Given the description of an element on the screen output the (x, y) to click on. 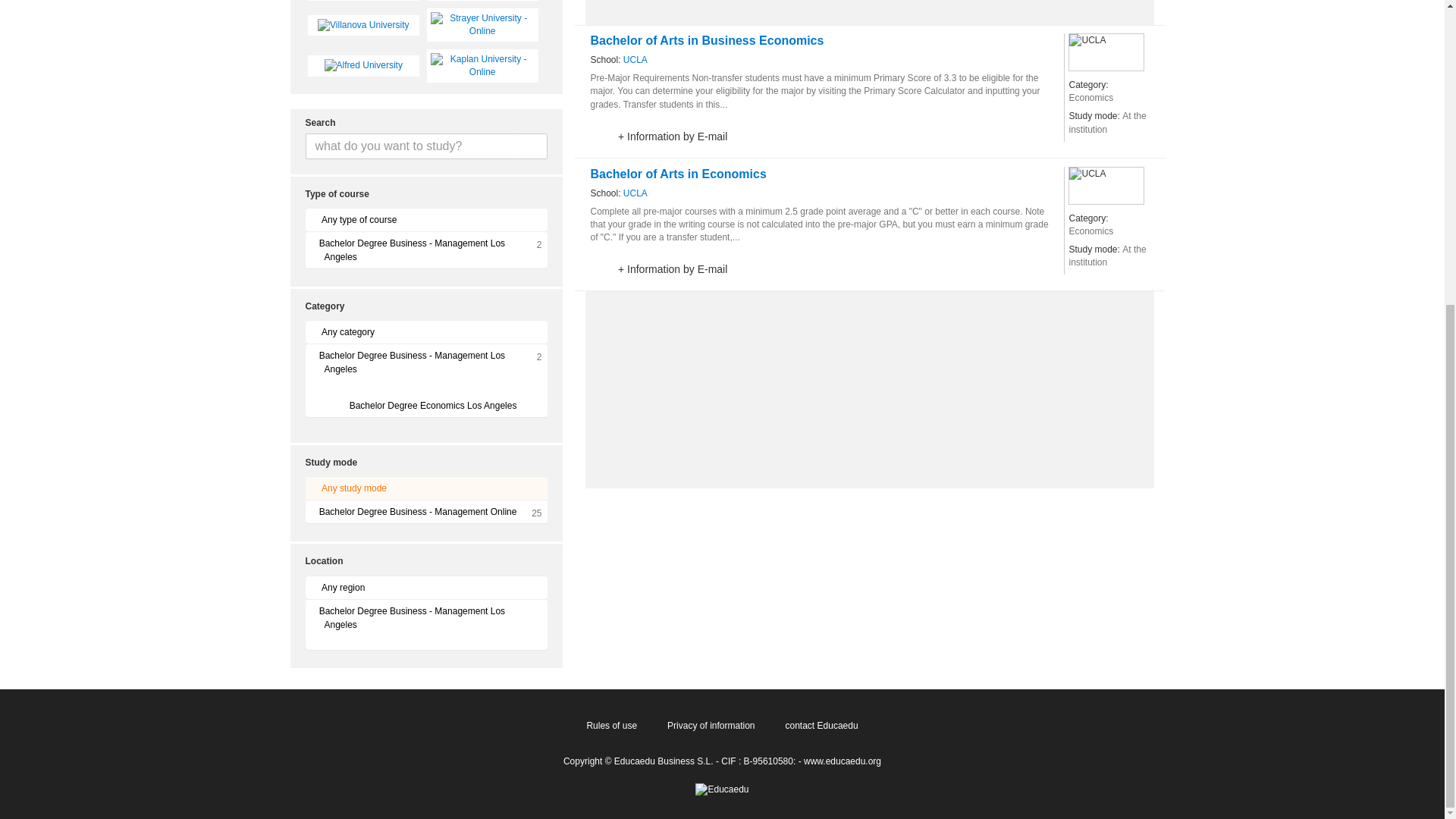
Bachelor of Arts in Business Economics (706, 40)
UCLA (635, 60)
UCLA (635, 193)
UCLA (1106, 52)
Bachelor of Arts in Economics (677, 174)
Bachelor of Arts in Business Economics (706, 40)
UCLA (635, 60)
Bachelor of Arts in Economics (677, 174)
